Given the description of an element on the screen output the (x, y) to click on. 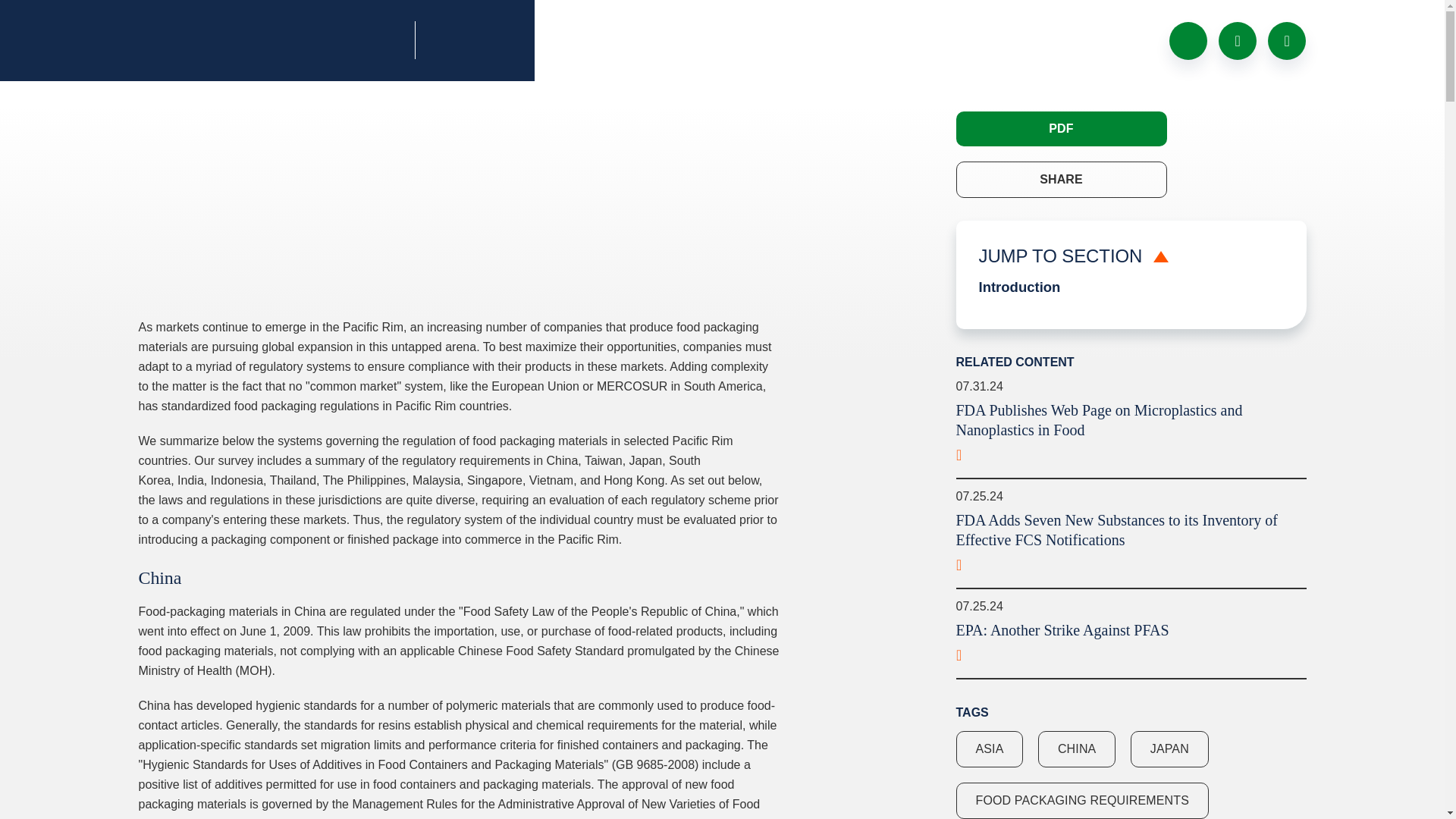
Search (1237, 39)
Keller and Heckman (501, 39)
Podcast (1188, 39)
Menu (1287, 39)
Packaging Law (271, 40)
